Given the description of an element on the screen output the (x, y) to click on. 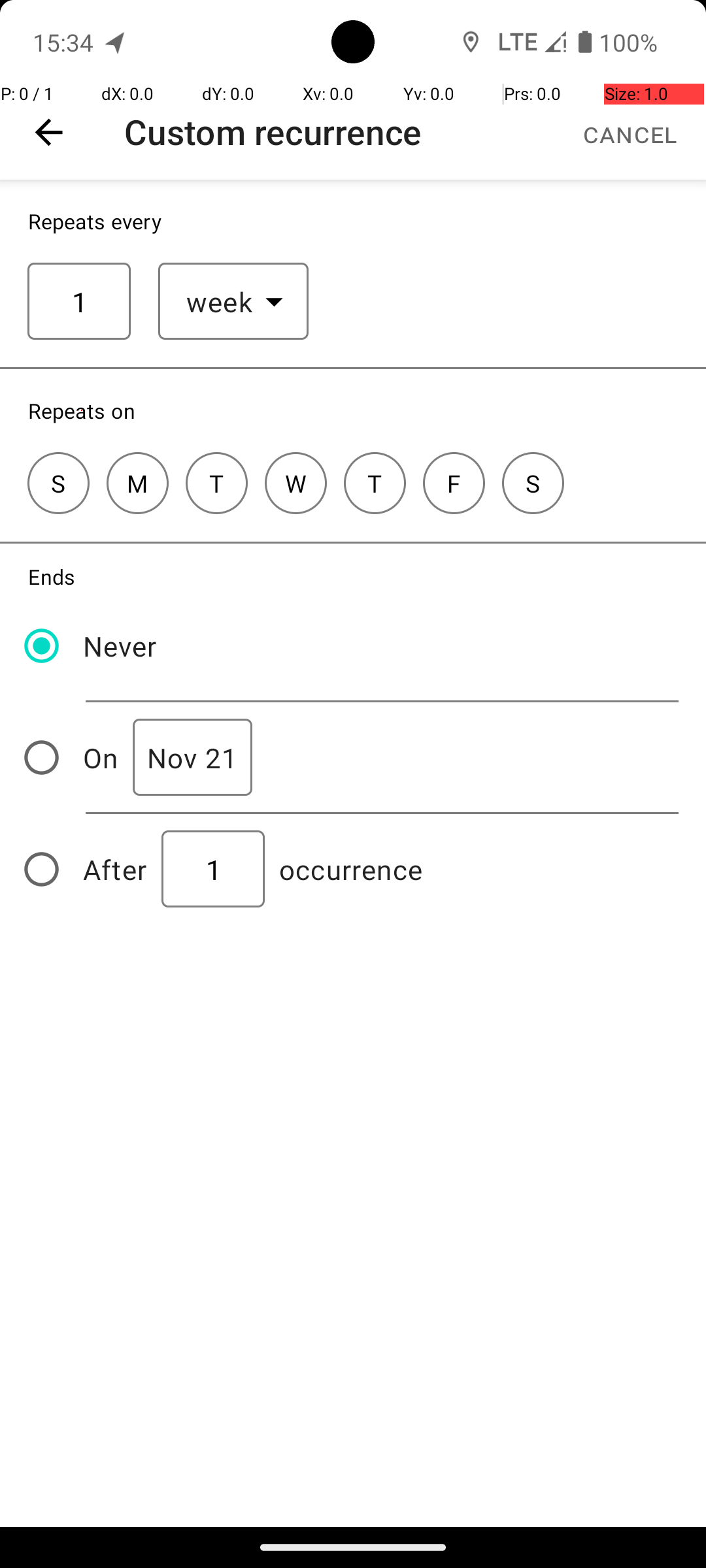
Repeats every Element type: android.widget.TextView (94, 221)
Repeats on Element type: android.widget.TextView (81, 410)
Ends Element type: android.widget.TextView (51, 576)
Custom recurrence Element type: android.widget.TextView (273, 131)
week Element type: android.widget.TextView (219, 301)
Never Element type: android.widget.TextView (120, 645)
After Element type: android.widget.TextView (114, 868)
occurrence Element type: android.widget.TextView (350, 868)
Nov 21 Element type: android.widget.TextView (192, 757)
